Given the description of an element on the screen output the (x, y) to click on. 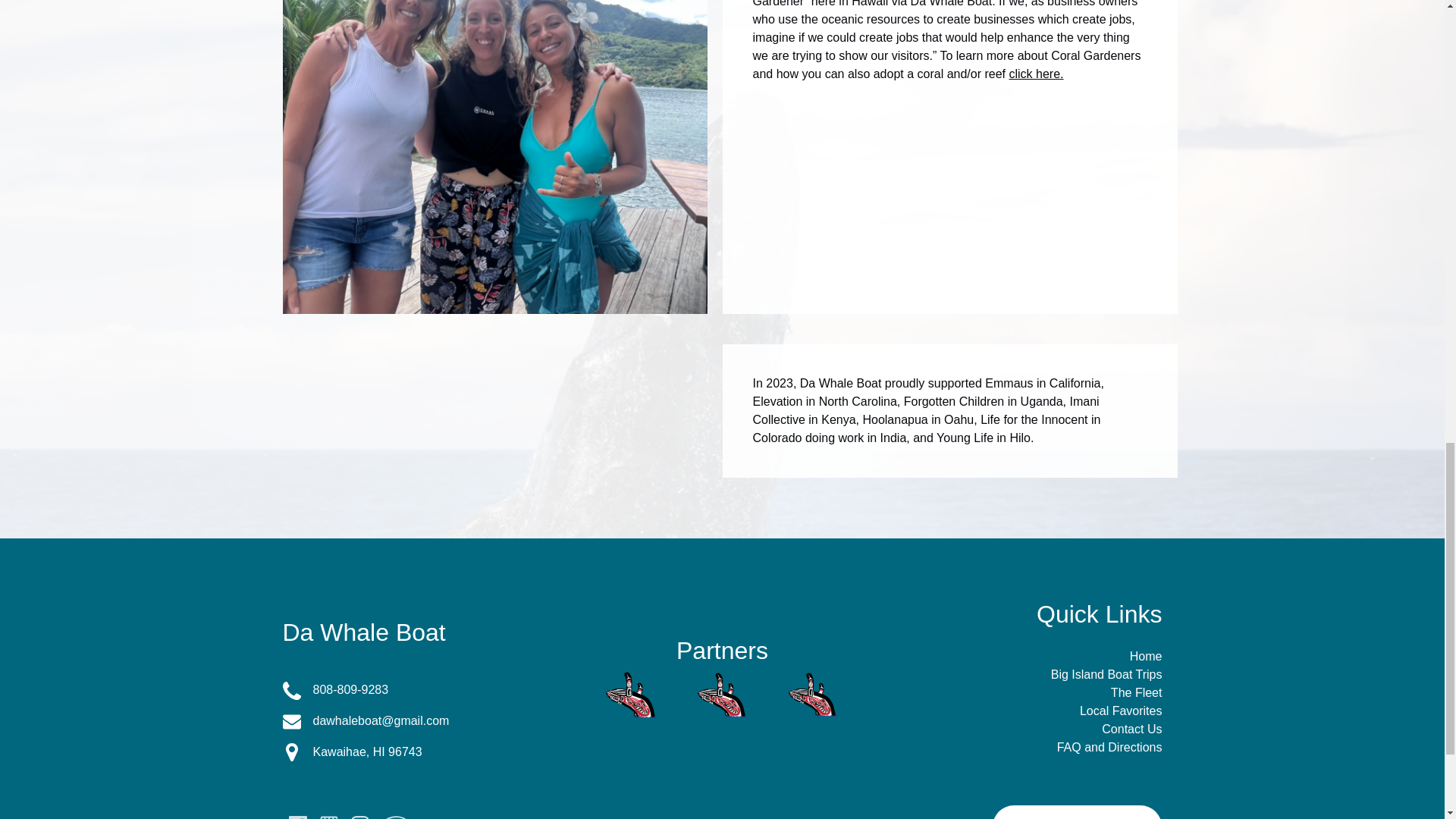
click here. (418, 752)
Phone (1035, 73)
Map Marker (290, 690)
Envelope (418, 690)
